Given the description of an element on the screen output the (x, y) to click on. 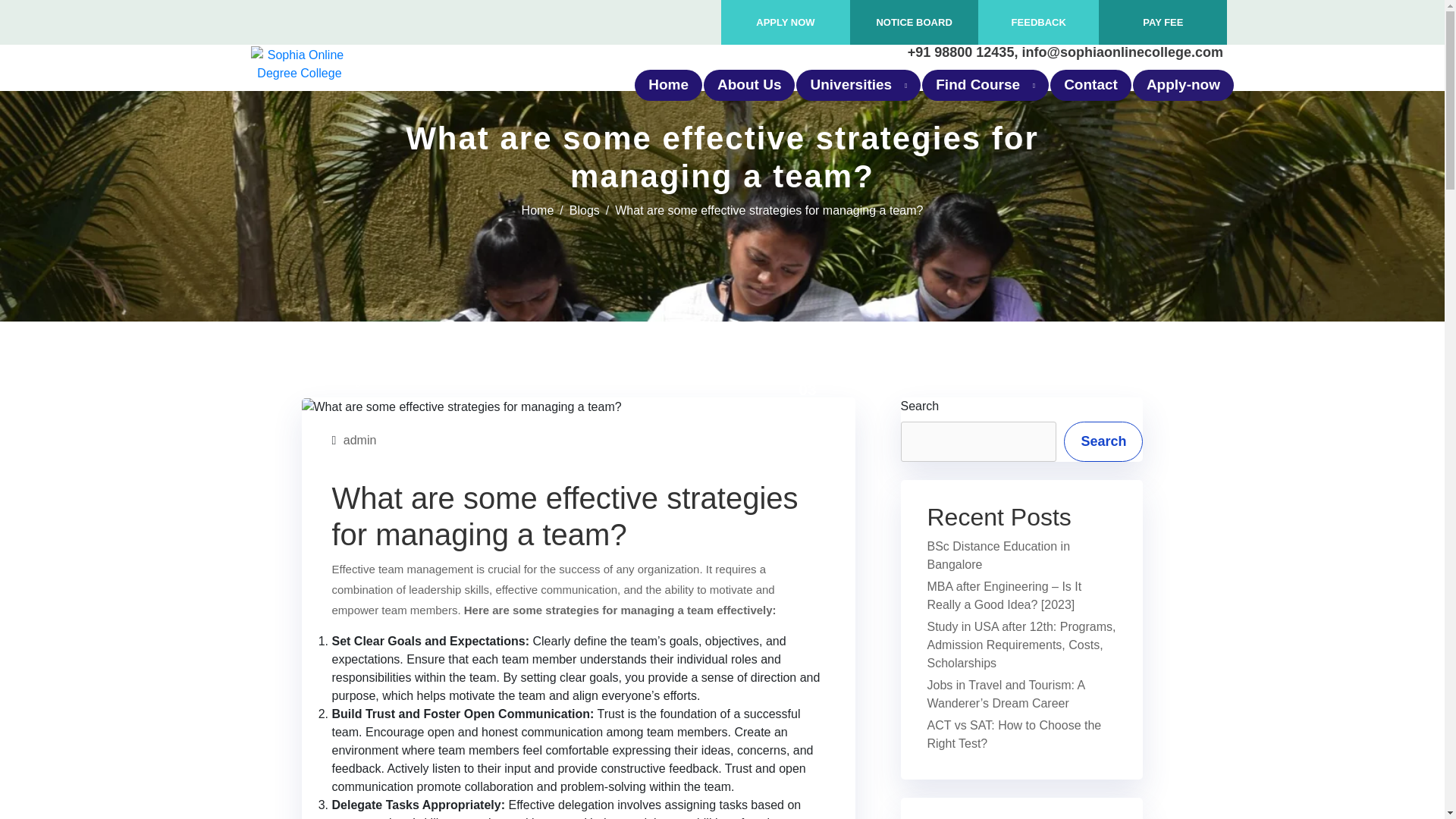
Find Course (985, 85)
Contact (1090, 85)
NOTICE BOARD (914, 21)
FEEDBACK (1038, 21)
Apply-now (1183, 85)
Universities (857, 85)
PAY FEE (1162, 21)
APPLY NOW (784, 21)
About Us (749, 85)
Home (668, 85)
